Given the description of an element on the screen output the (x, y) to click on. 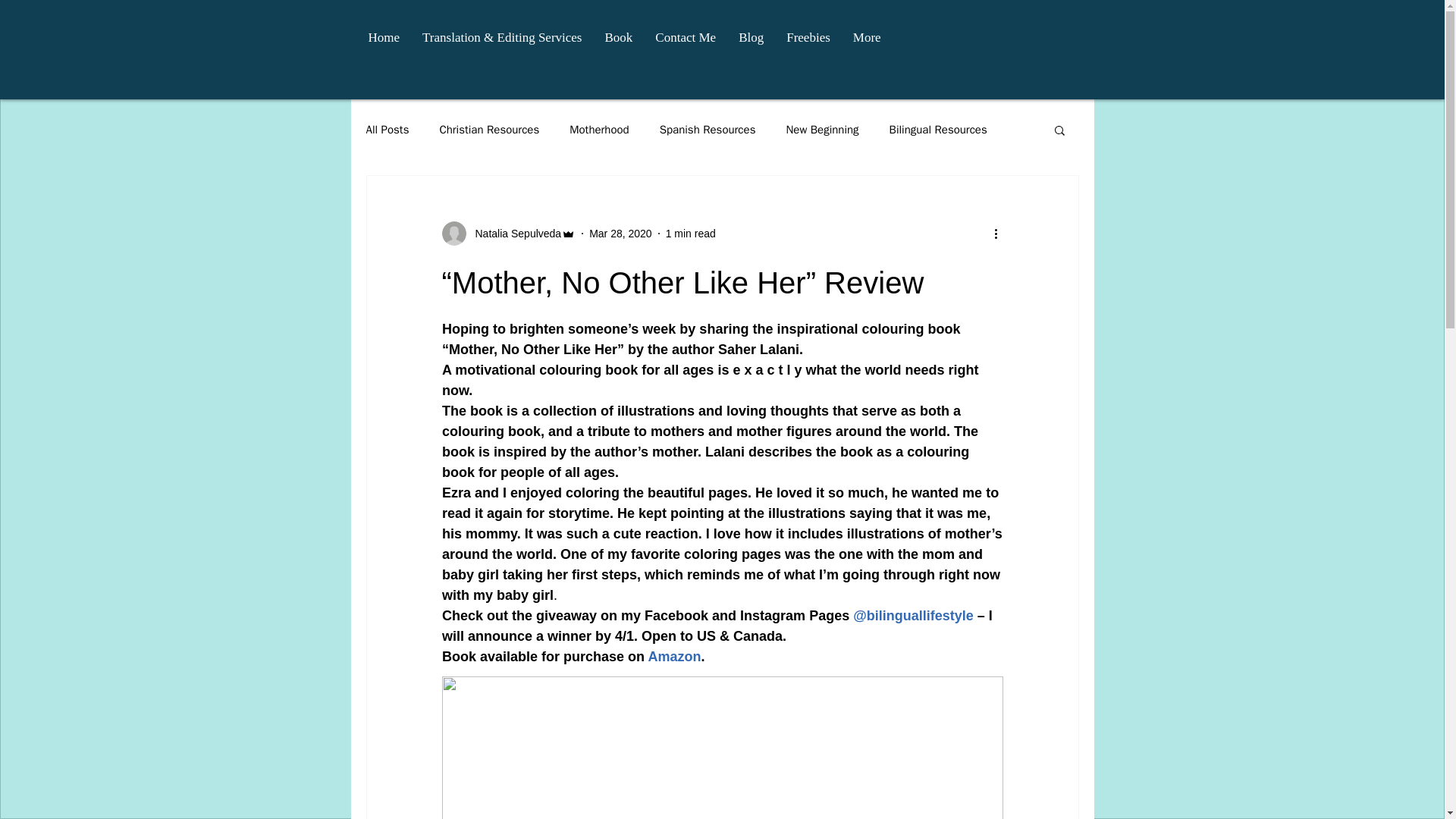
Christian Resources (488, 129)
Book (617, 41)
Natalia Sepulveda (512, 233)
1 min read (690, 233)
Spanish Resources (707, 129)
Blog (750, 41)
Home (383, 41)
All Posts (387, 129)
Contact Me (684, 41)
Freebies (807, 41)
Mar 28, 2020 (620, 233)
Motherhood (598, 129)
Amazon (673, 656)
New Beginning (822, 129)
Bilingual Resources (938, 129)
